Given the description of an element on the screen output the (x, y) to click on. 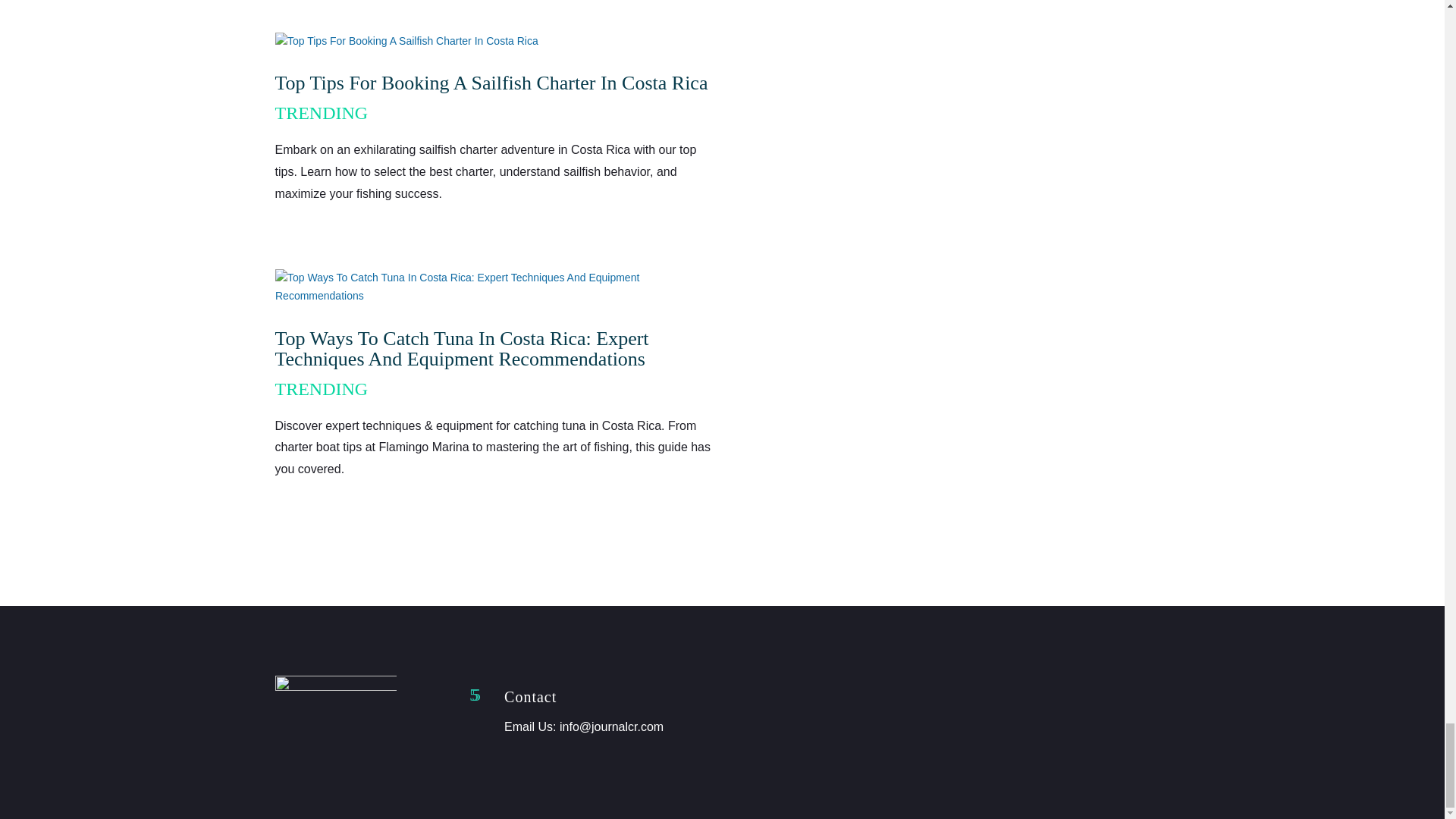
thejournalcr (335, 686)
Top Tips For Booking A Sailfish Charter In Costa Rica (491, 83)
TRENDING (321, 112)
TRENDING (321, 388)
